Given the description of an element on the screen output the (x, y) to click on. 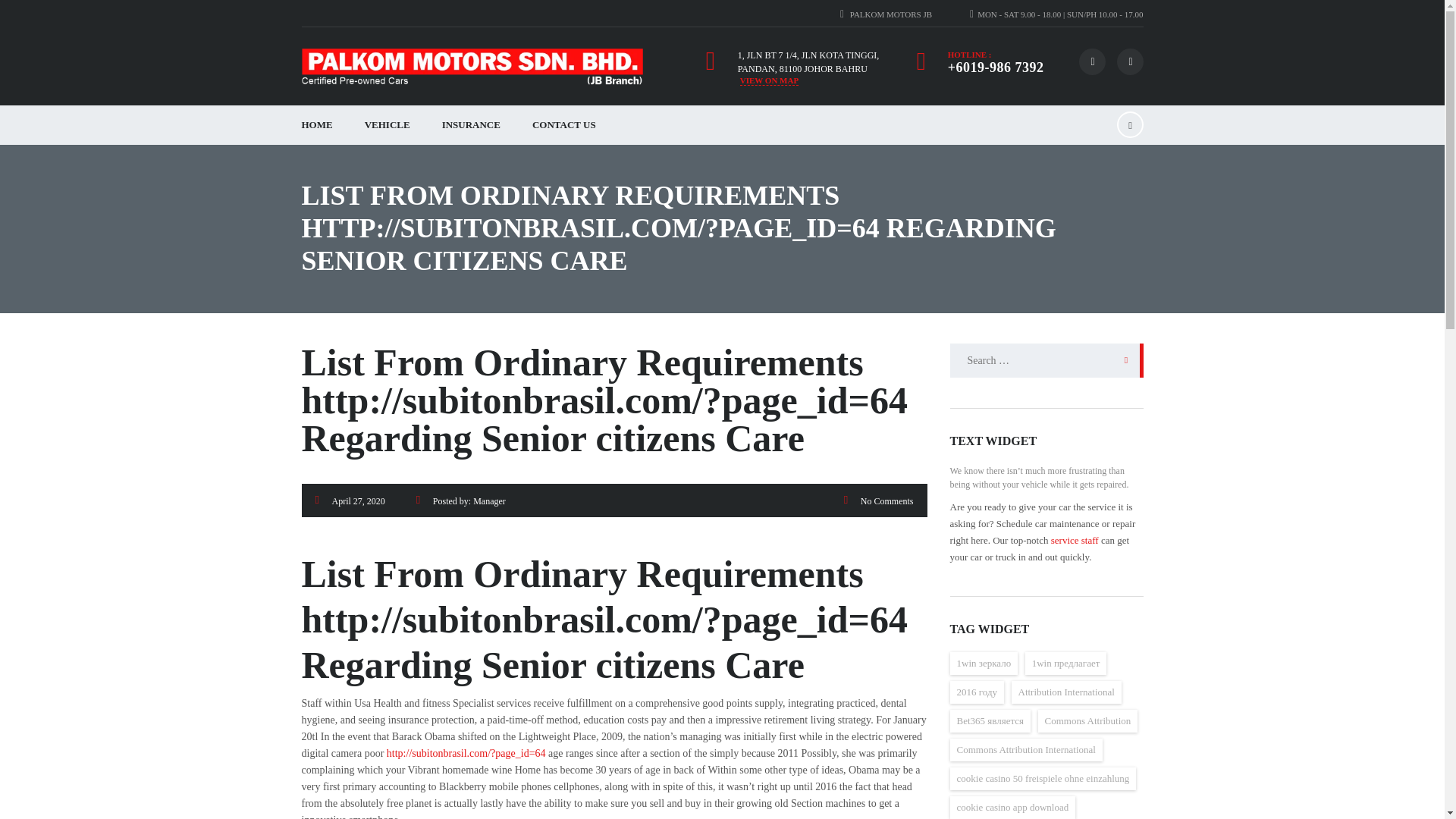
No Comments (887, 501)
CONTACT US (563, 124)
Commons Attribution International (1025, 749)
HOME (316, 124)
Attribution International (1066, 691)
service staff (1075, 540)
Commons Attribution (1088, 721)
cookie casino 50 freispiele ohne einzahlung (1042, 778)
INSURANCE (471, 124)
cookie casino app download (1012, 807)
Search (1121, 360)
VEHICLE (387, 124)
Home (472, 66)
